Given the description of an element on the screen output the (x, y) to click on. 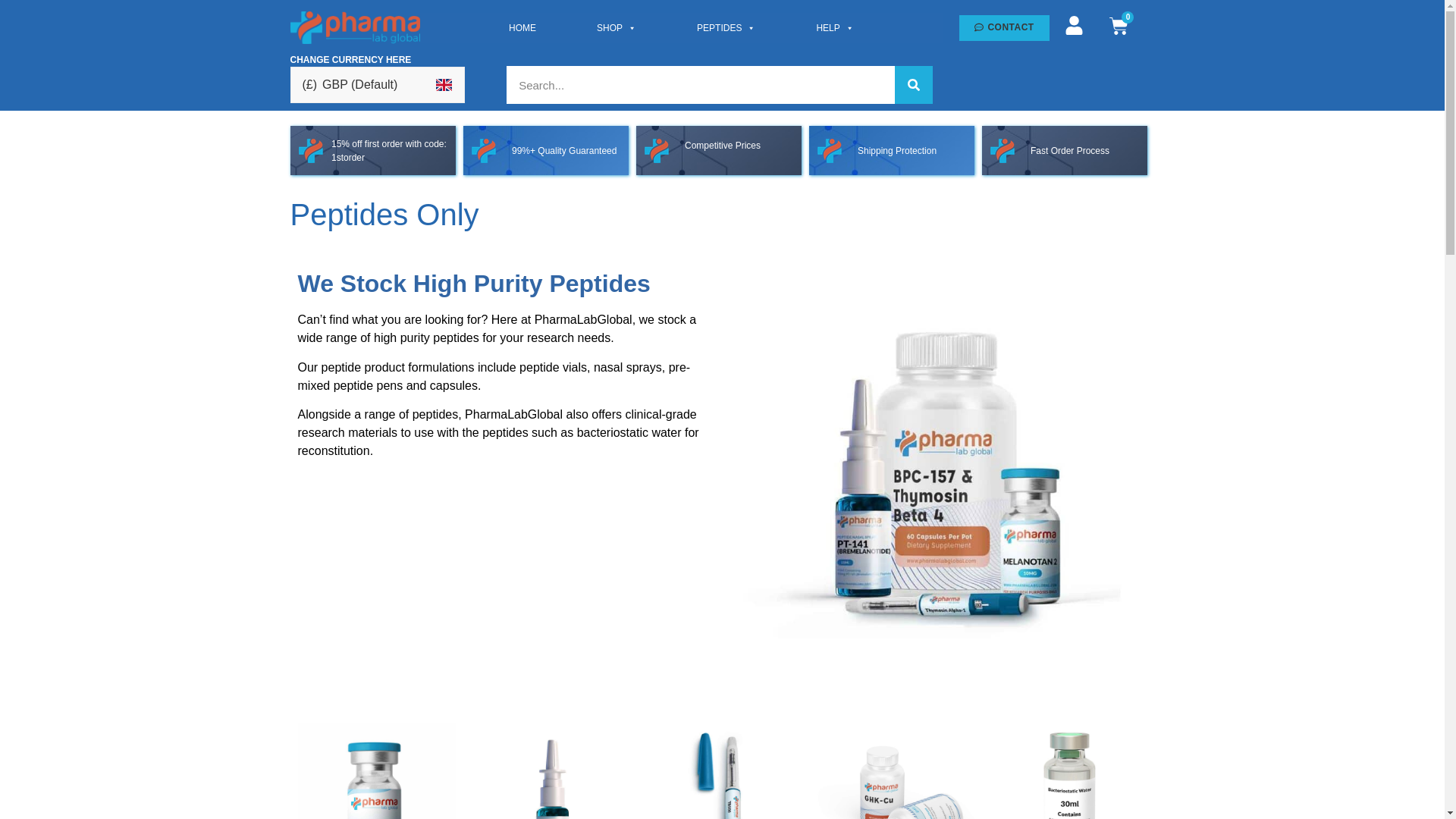
SHOP (616, 27)
HOME (522, 27)
PEPTIDES (726, 27)
